Given the description of an element on the screen output the (x, y) to click on. 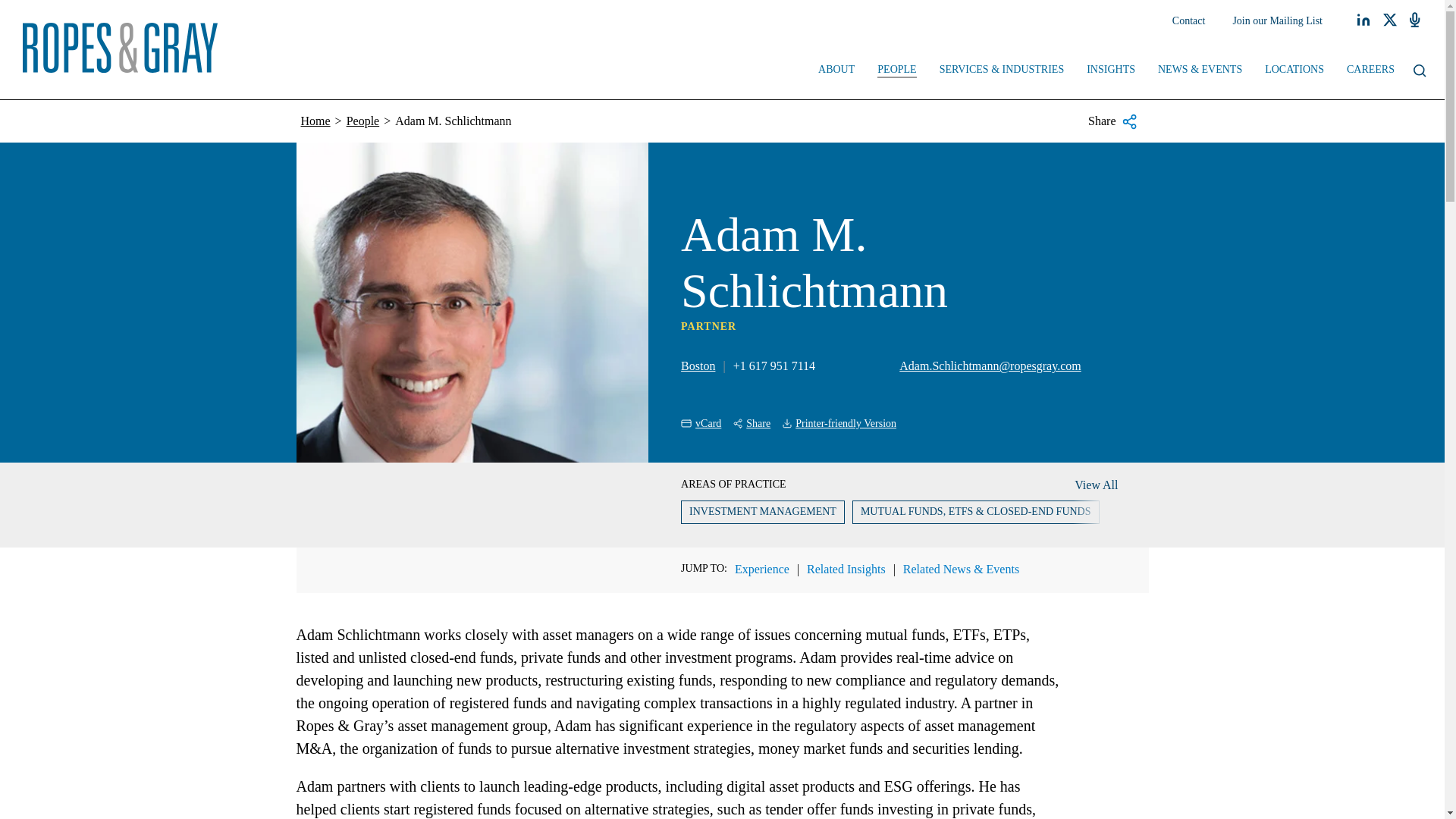
Share (751, 423)
vCard (700, 423)
PEOPLE (896, 70)
Printer-friendly Version (839, 423)
INSIGHTS (1111, 70)
Join our Mailing List (1277, 21)
CAREERS (1370, 70)
People (363, 121)
LOCATIONS (1294, 70)
Home (314, 121)
